Given the description of an element on the screen output the (x, y) to click on. 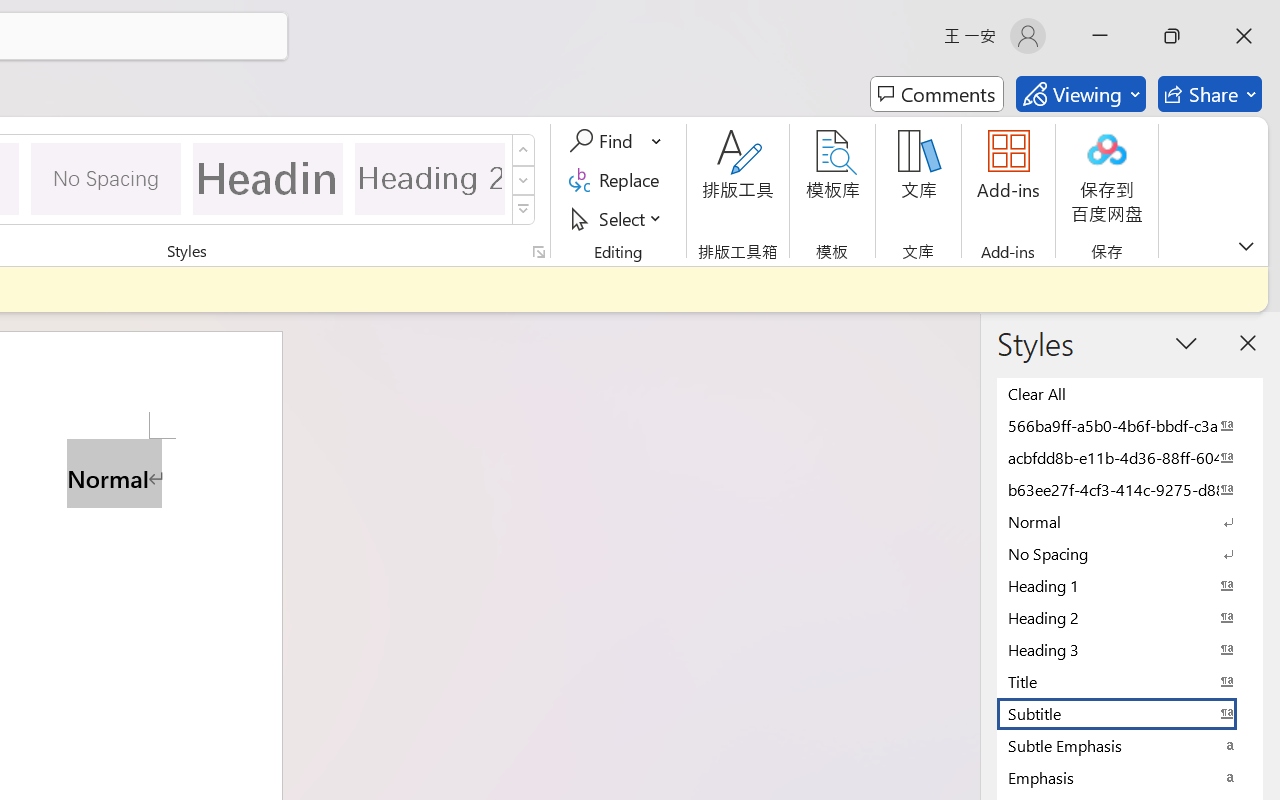
Mode (1080, 94)
Heading 1 (267, 178)
Heading 3 (1130, 649)
Normal (1130, 521)
Subtitle (1130, 713)
b63ee27f-4cf3-414c-9275-d88e3f90795e (1130, 489)
Subtle Emphasis (1130, 745)
acbfdd8b-e11b-4d36-88ff-6049b138f862 (1130, 457)
Row Down (523, 180)
Styles (523, 209)
